Given the description of an element on the screen output the (x, y) to click on. 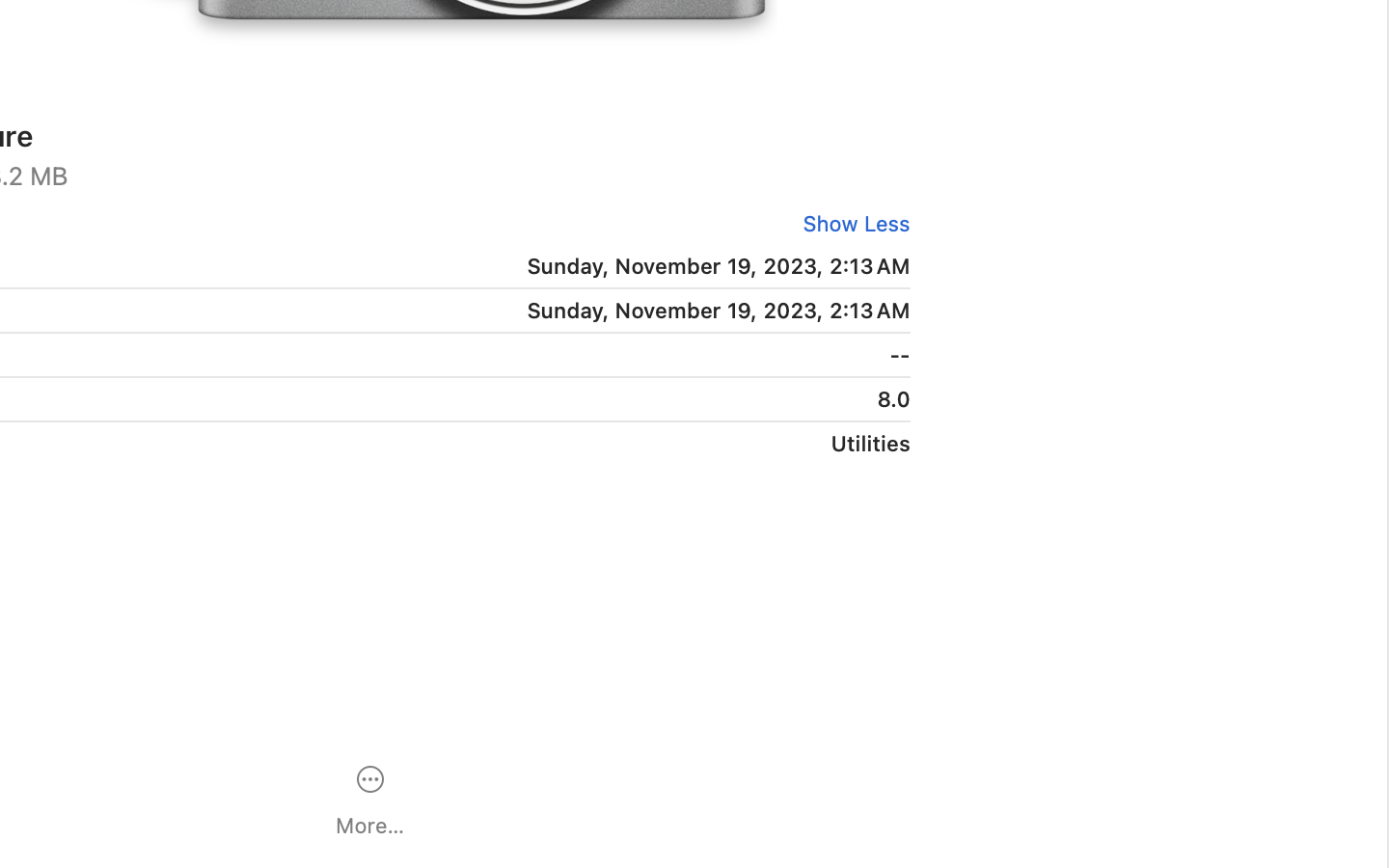
1 Element type: AXCheckBox (849, 223)
